Given the description of an element on the screen output the (x, y) to click on. 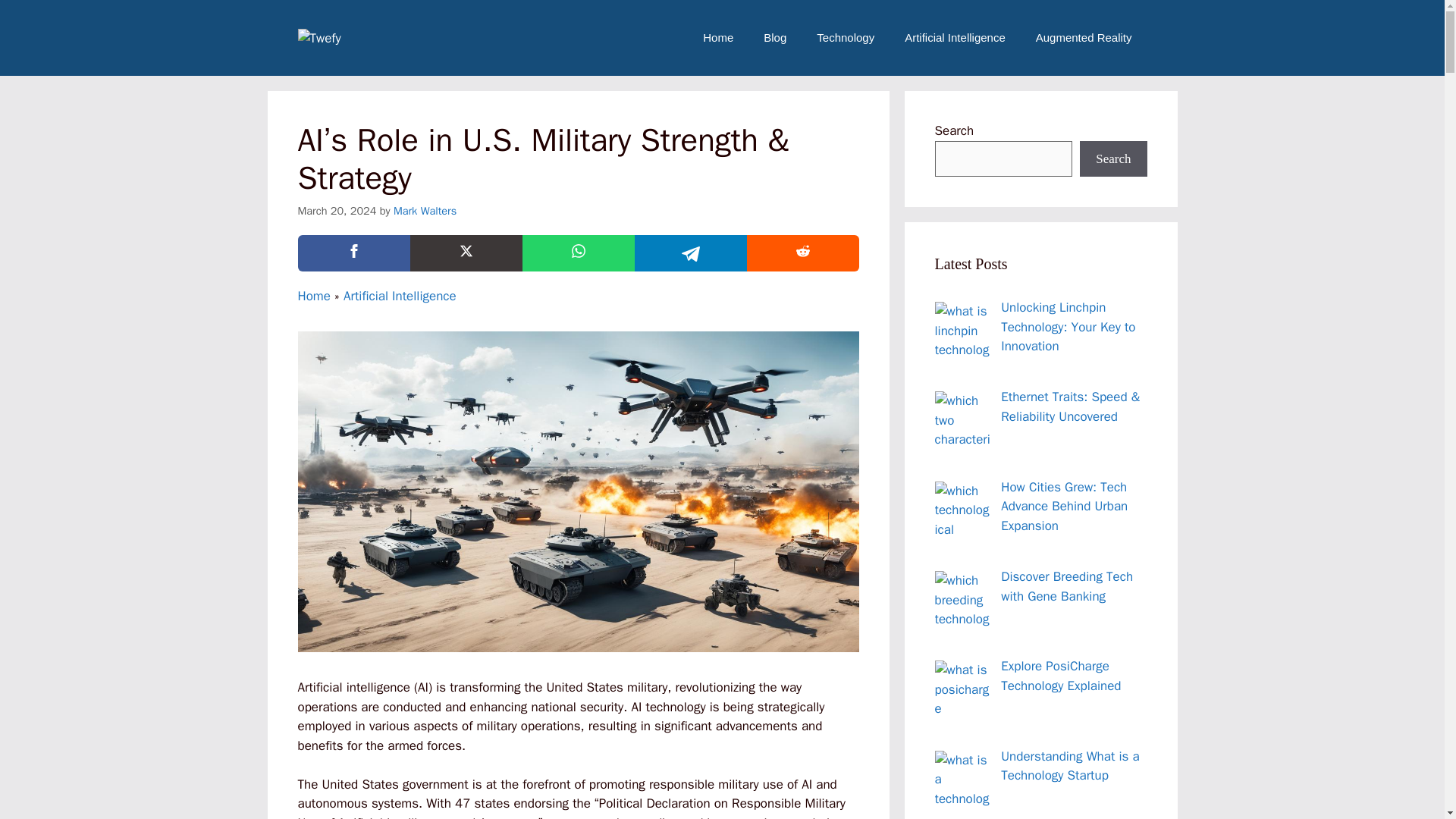
Explore PosiCharge Technology Explained 6 (962, 688)
Mark Walters (425, 210)
View all posts by Mark Walters (425, 210)
Artificial Intelligence (400, 295)
Augmented Reality (1083, 37)
Home (313, 295)
Unlocking Linchpin Technology: Your Key to Innovation 2 (962, 330)
Blog (775, 37)
Home (717, 37)
How Cities Grew: Tech Advance Behind Urban Expansion 4 (962, 509)
